Given the description of an element on the screen output the (x, y) to click on. 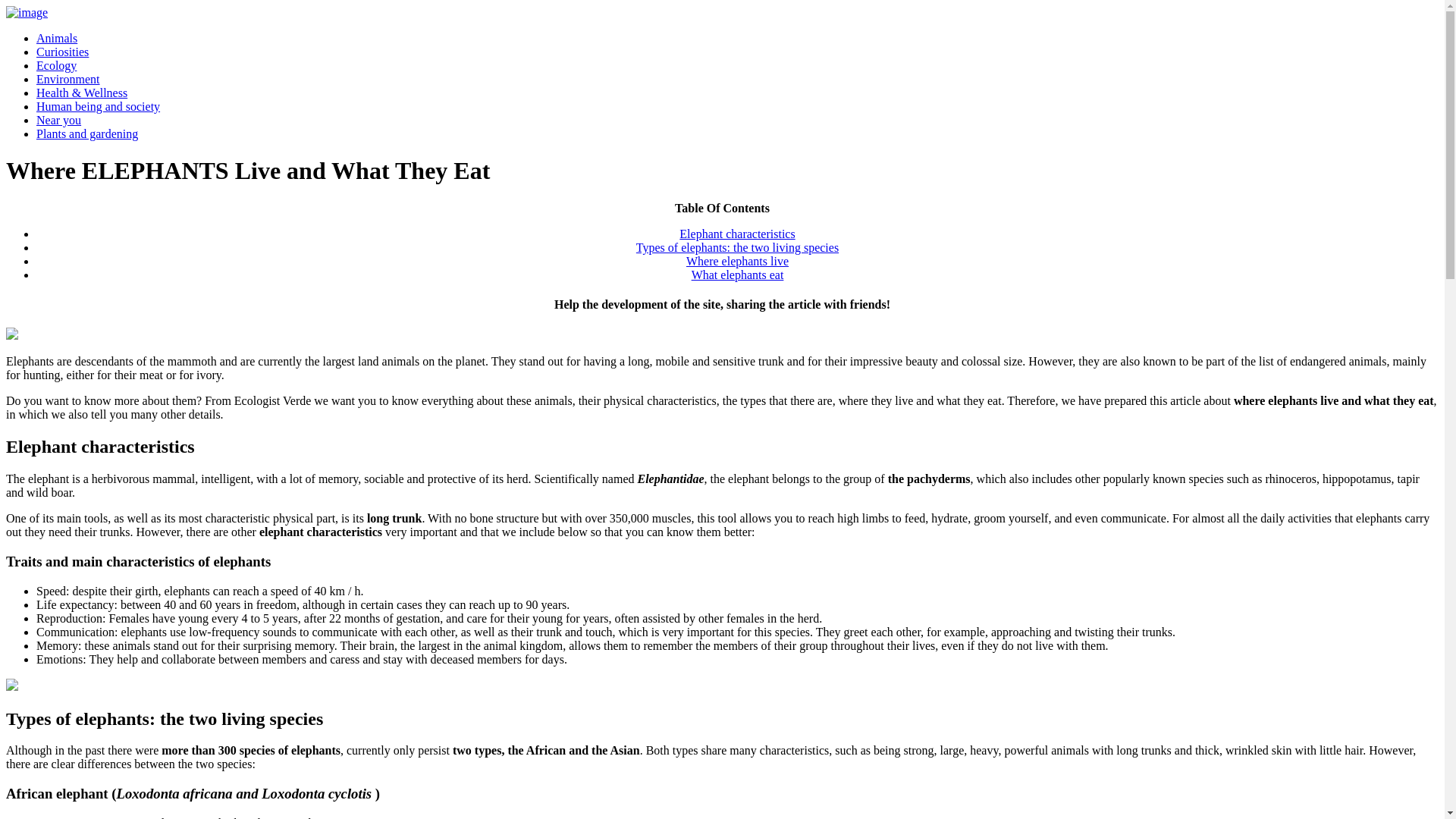
Curiosities 2024 (62, 51)
Environment (68, 78)
Environment 2024 (68, 78)
What elephants eat (737, 274)
Near you (58, 119)
Where elephants live (737, 260)
Animals 2024 (56, 38)
Human being and society 2024 (98, 106)
Ecology 2024 (56, 65)
Plants and gardening 2024 (87, 133)
Animals (56, 38)
Types of elephants: the two living species (737, 246)
Ecology (56, 65)
Curiosities (62, 51)
Near you 2024 (58, 119)
